Given the description of an element on the screen output the (x, y) to click on. 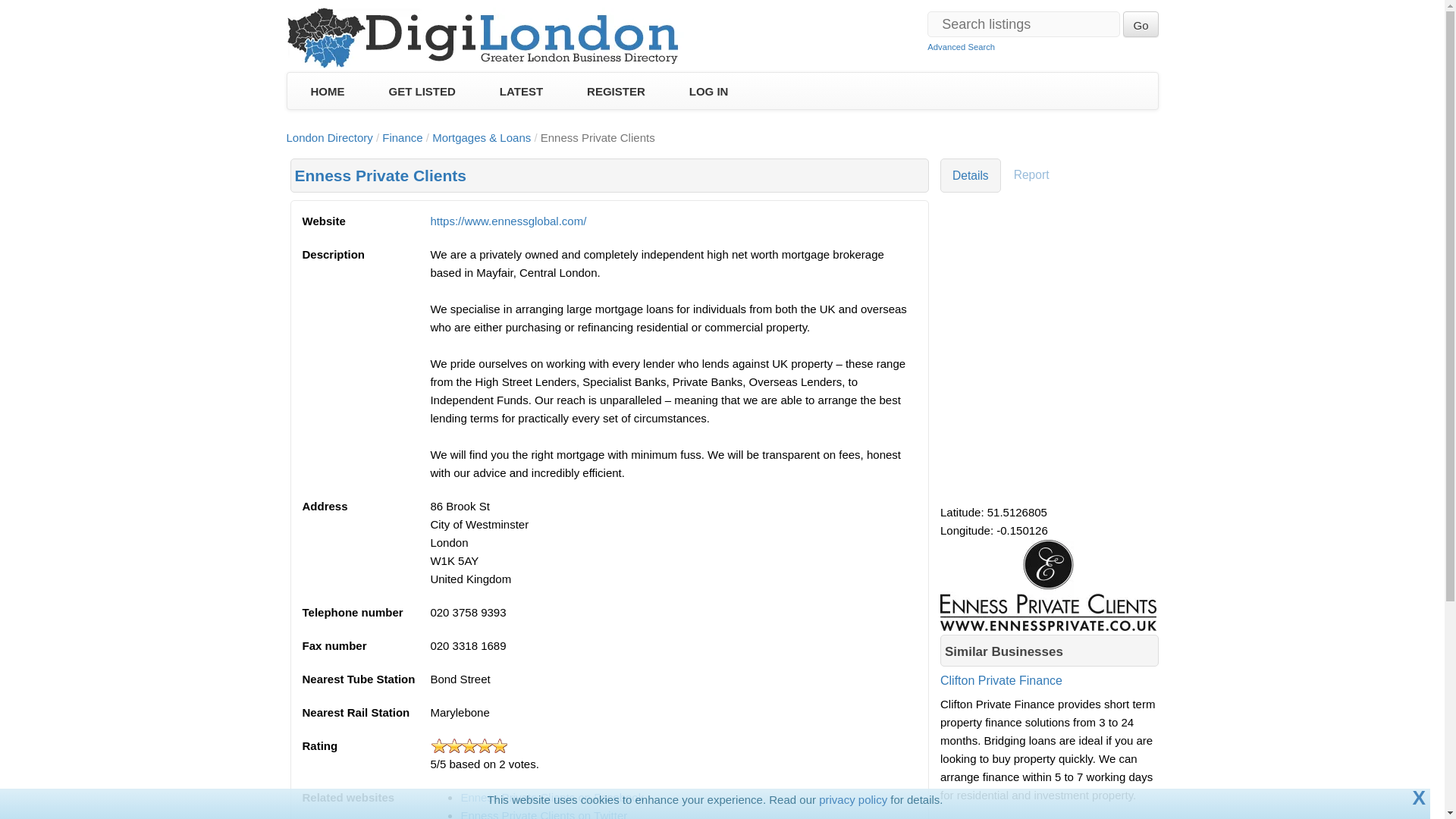
Enness Private Clients on Twitter (543, 814)
Details (970, 175)
HOME (326, 91)
Finance (401, 137)
GET LISTED (422, 91)
Report (1032, 175)
Enness Private Clients (379, 175)
Go (1139, 23)
Clifton Private Finance (1049, 692)
EPC MASTER Stacked BLACK.jpg (1048, 585)
London Directory (329, 137)
LATEST (520, 91)
Advanced Search (960, 46)
REGISTER (615, 91)
Enness Private Clients on Facebook (551, 797)
